Given the description of an element on the screen output the (x, y) to click on. 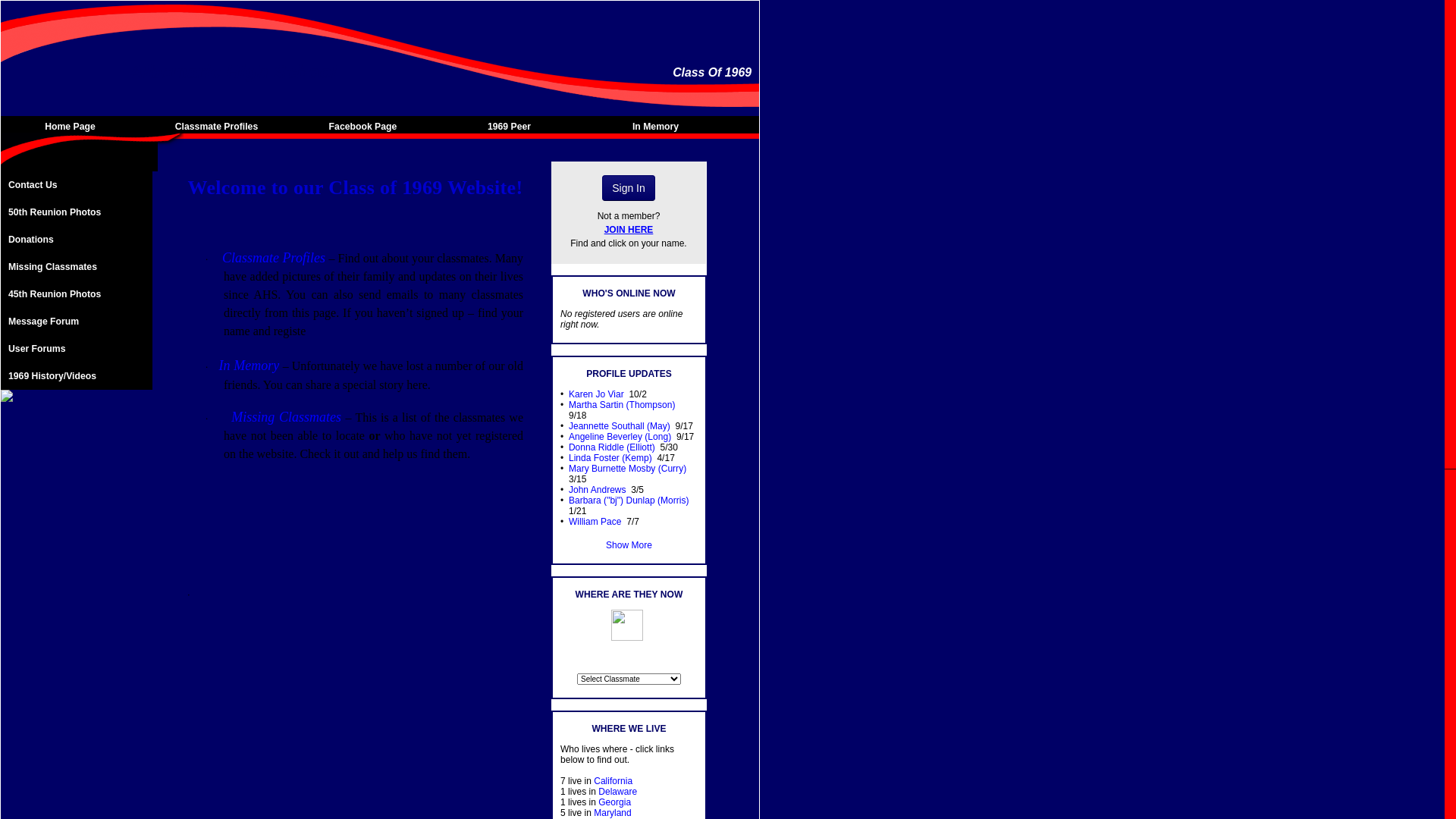
Message Forum Element type: text (76, 321)
Missing Classmates Element type: text (76, 266)
JOIN HERE Element type: text (628, 229)
Maryland Element type: text (612, 812)
Donations Element type: text (76, 239)
Missing Classmates Element type: text (286, 416)
Karen Jo Viar Element type: text (596, 394)
Sign In Element type: text (628, 187)
Classmate Profiles Element type: text (273, 257)
Facebook Page Element type: text (366, 126)
User Forums Element type: text (76, 348)
50th Reunion Photos Element type: text (76, 211)
Home Page Element type: text (73, 126)
Barbara ("bj") Dunlap (Morris) Element type: text (628, 500)
45th Reunion Photos Element type: text (76, 293)
1969 Peer Element type: text (512, 126)
California Element type: text (612, 780)
Mary Burnette Mosby (Curry) Element type: text (627, 468)
Jeannette Southall (May) Element type: text (619, 425)
Martha Sartin (Thompson) Element type: text (621, 404)
Donna Riddle (Elliott) Element type: text (611, 447)
In Memory Element type: text (249, 365)
Georgia Element type: text (614, 802)
Contact Us Element type: text (76, 184)
In Memory Element type: text (659, 126)
1969 History/Videos Element type: text (76, 375)
William Pace Element type: text (594, 521)
Classmate Profiles Element type: text (220, 126)
John Andrews Element type: text (597, 489)
Delaware Element type: text (617, 791)
Angeline Beverley (Long) Element type: text (619, 436)
Linda Foster (Kemp) Element type: text (610, 457)
Show More Element type: text (628, 544)
